Given the description of an element on the screen output the (x, y) to click on. 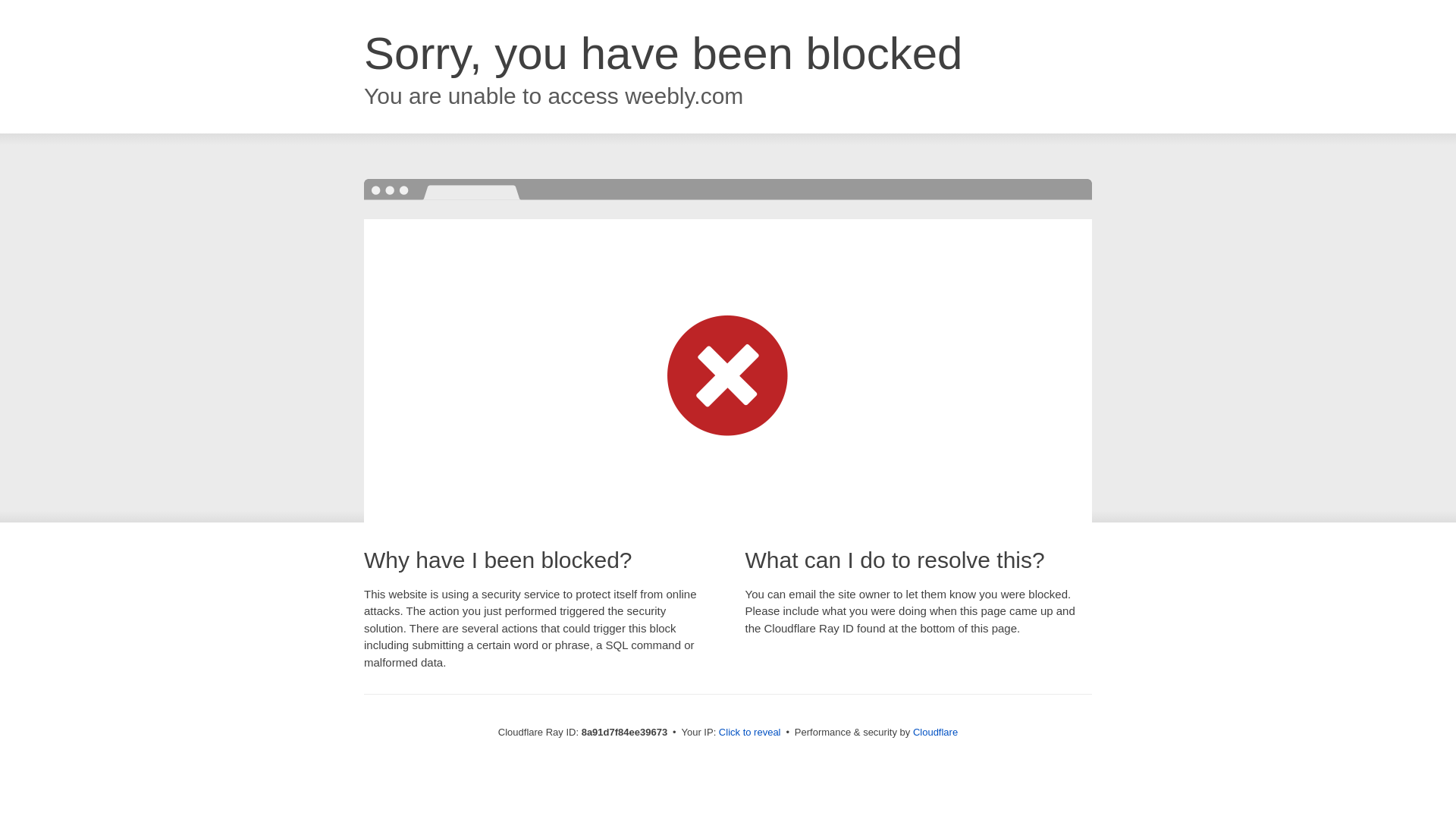
Click to reveal (749, 732)
Cloudflare (935, 731)
